Given the description of an element on the screen output the (x, y) to click on. 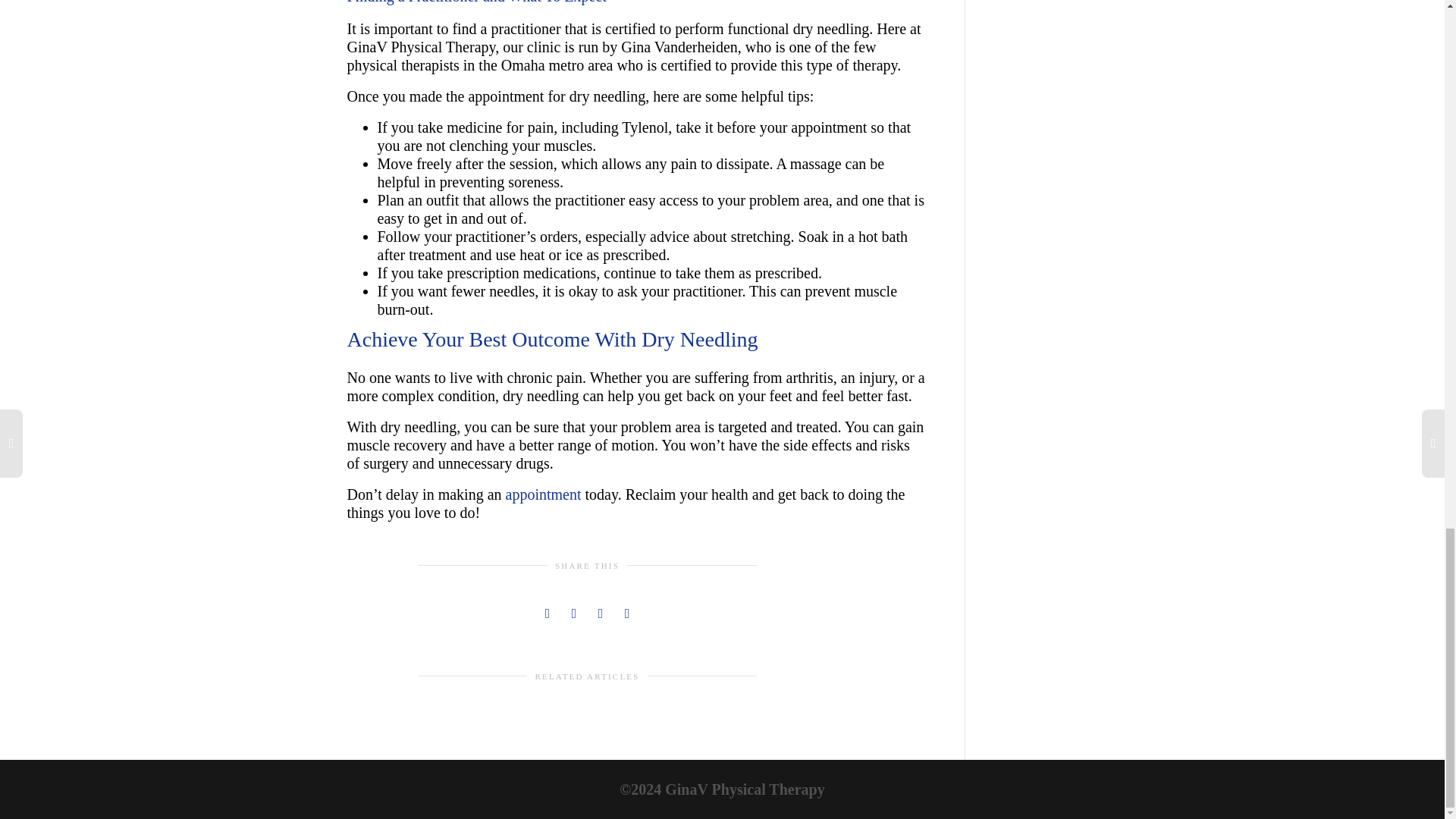
appointment (542, 494)
